Given the description of an element on the screen output the (x, y) to click on. 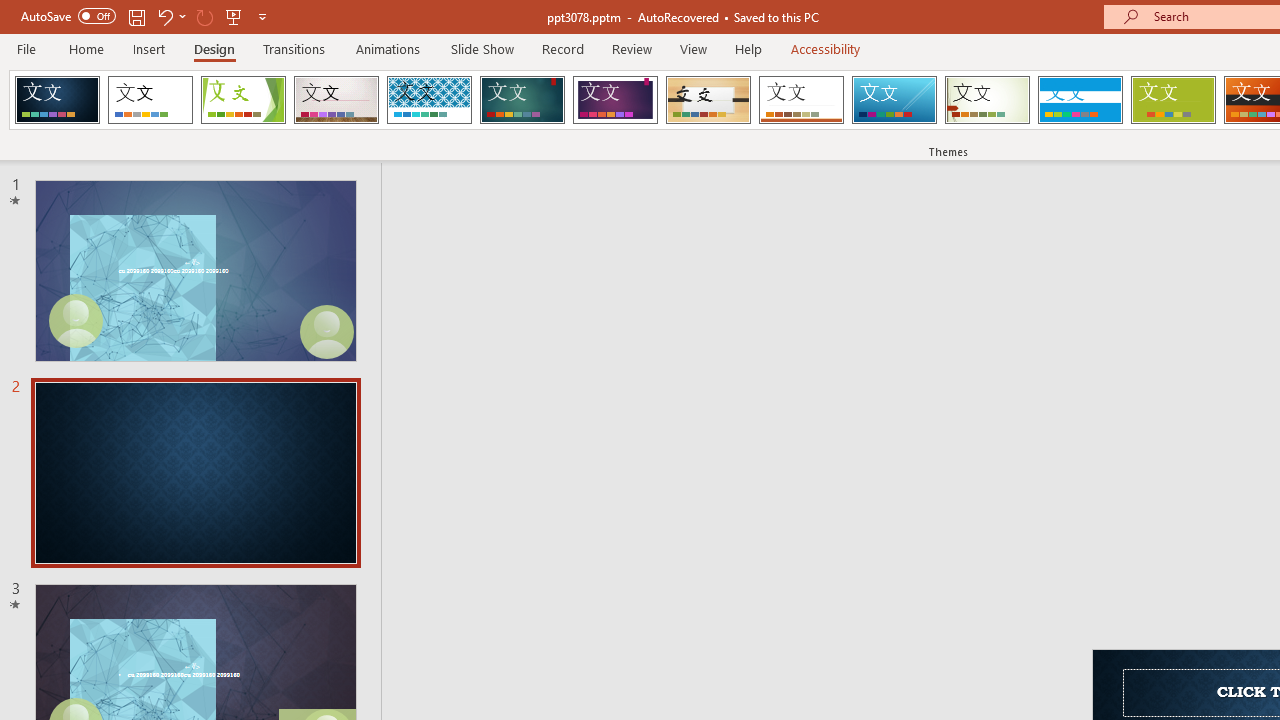
Integral (429, 100)
Dividend (57, 100)
Slice (893, 100)
Basis (1172, 100)
Retrospect (801, 100)
Wisp (987, 100)
Office Theme (150, 100)
Ion Boardroom (615, 100)
